Given the description of an element on the screen output the (x, y) to click on. 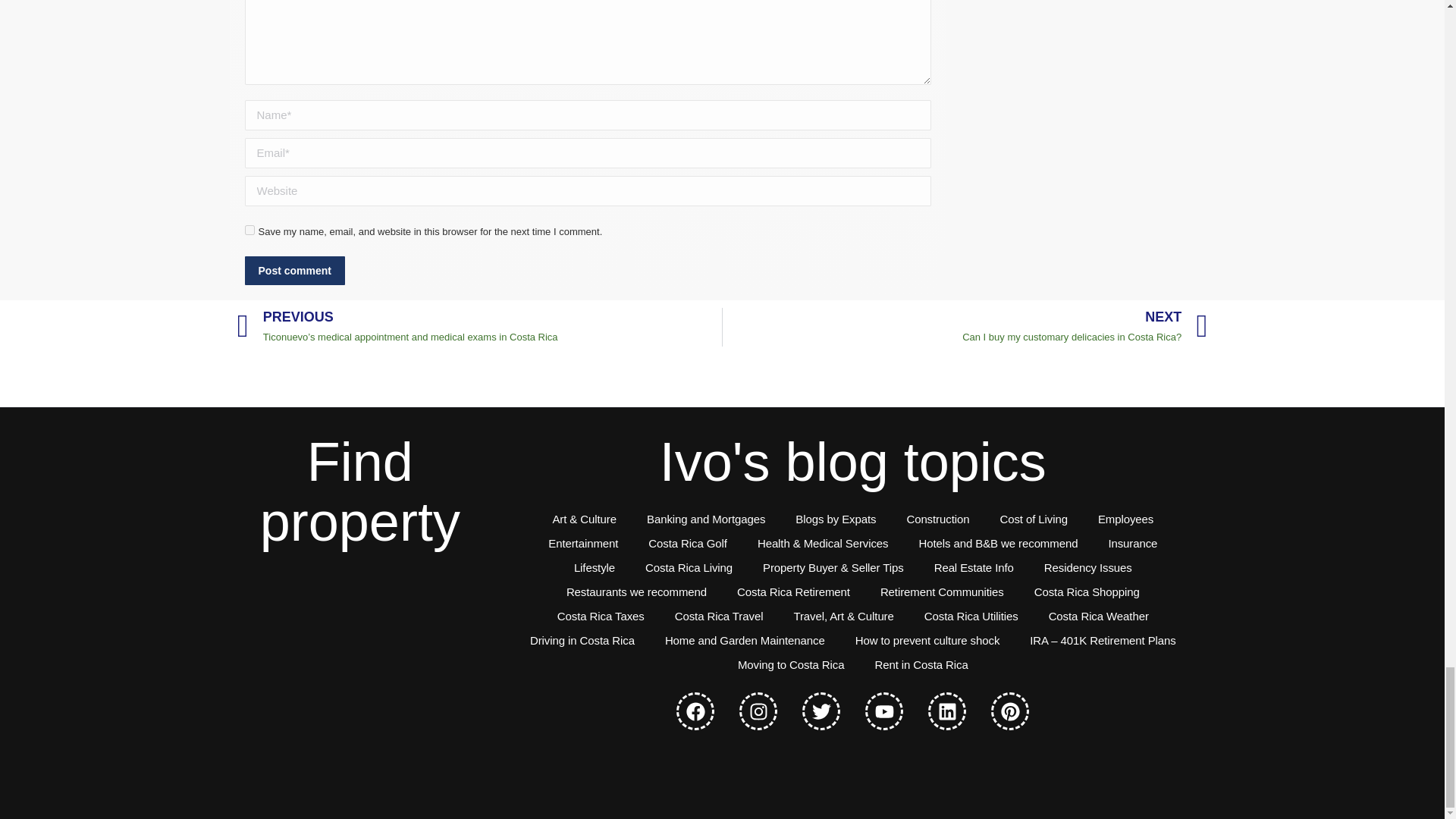
yes (248, 230)
